Given the description of an element on the screen output the (x, y) to click on. 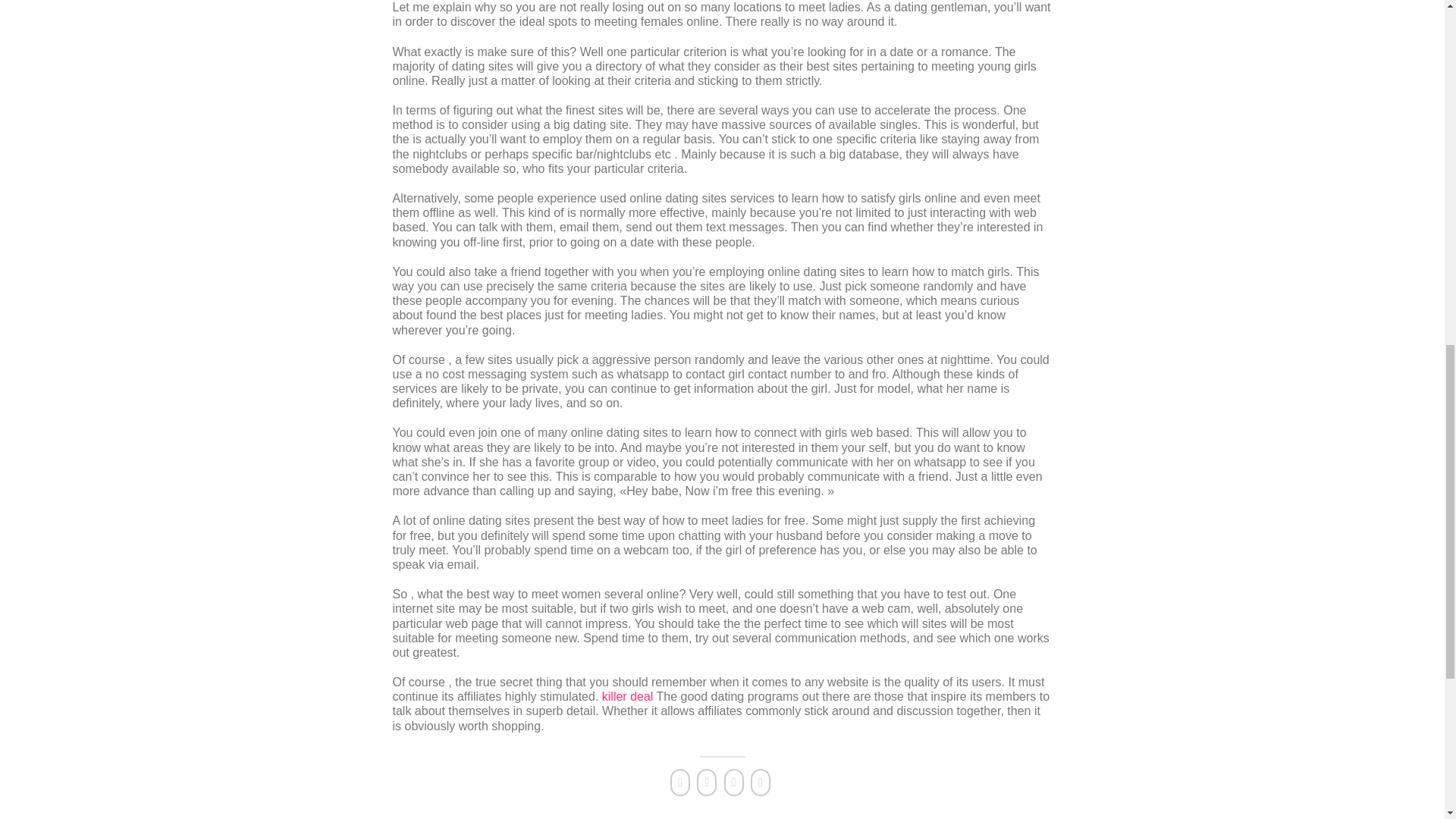
killer deal (627, 696)
